Given the description of an element on the screen output the (x, y) to click on. 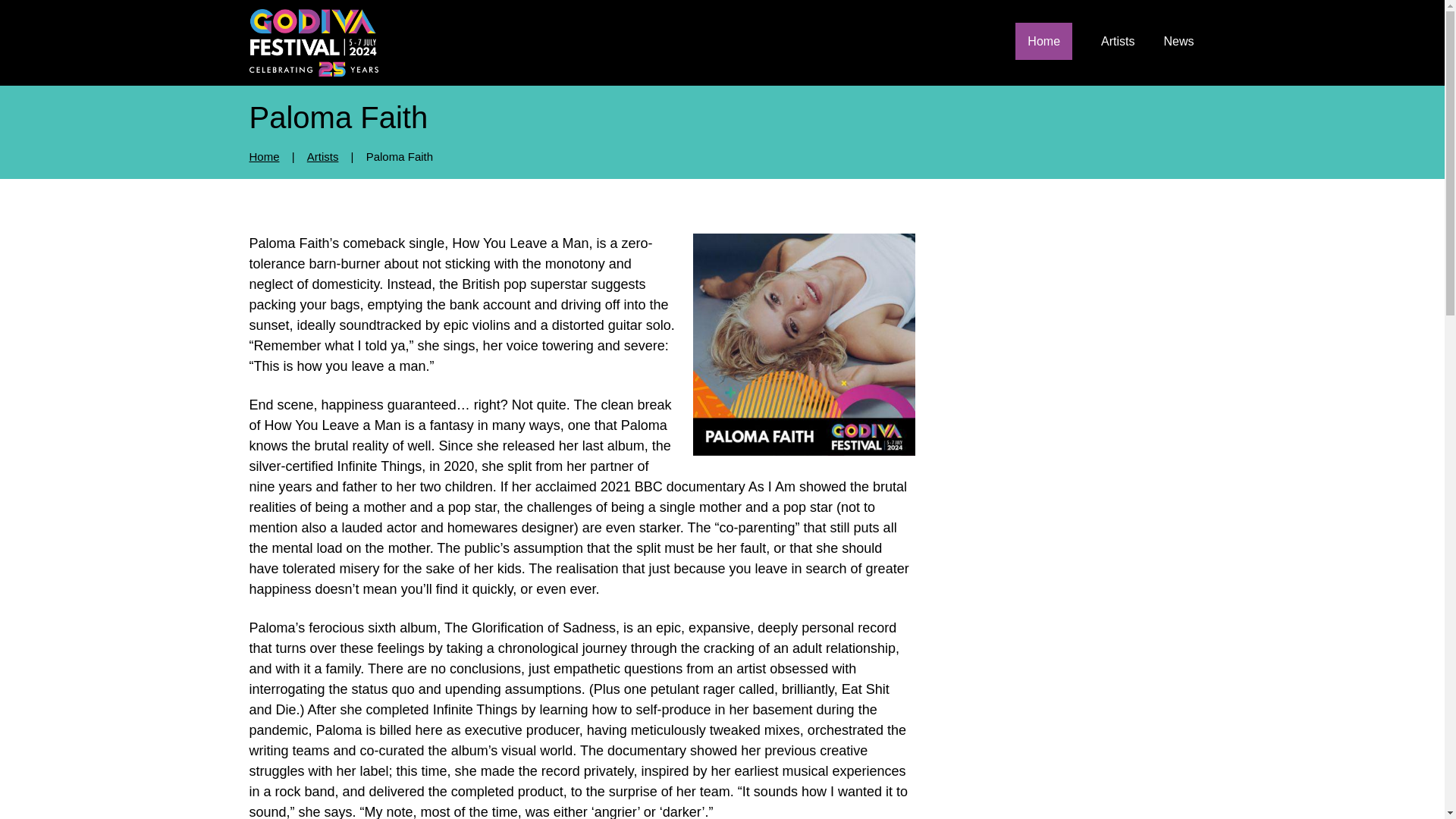
Home (263, 156)
Artists (1117, 41)
Home (1042, 40)
Artists (323, 156)
News (1178, 41)
